Given the description of an element on the screen output the (x, y) to click on. 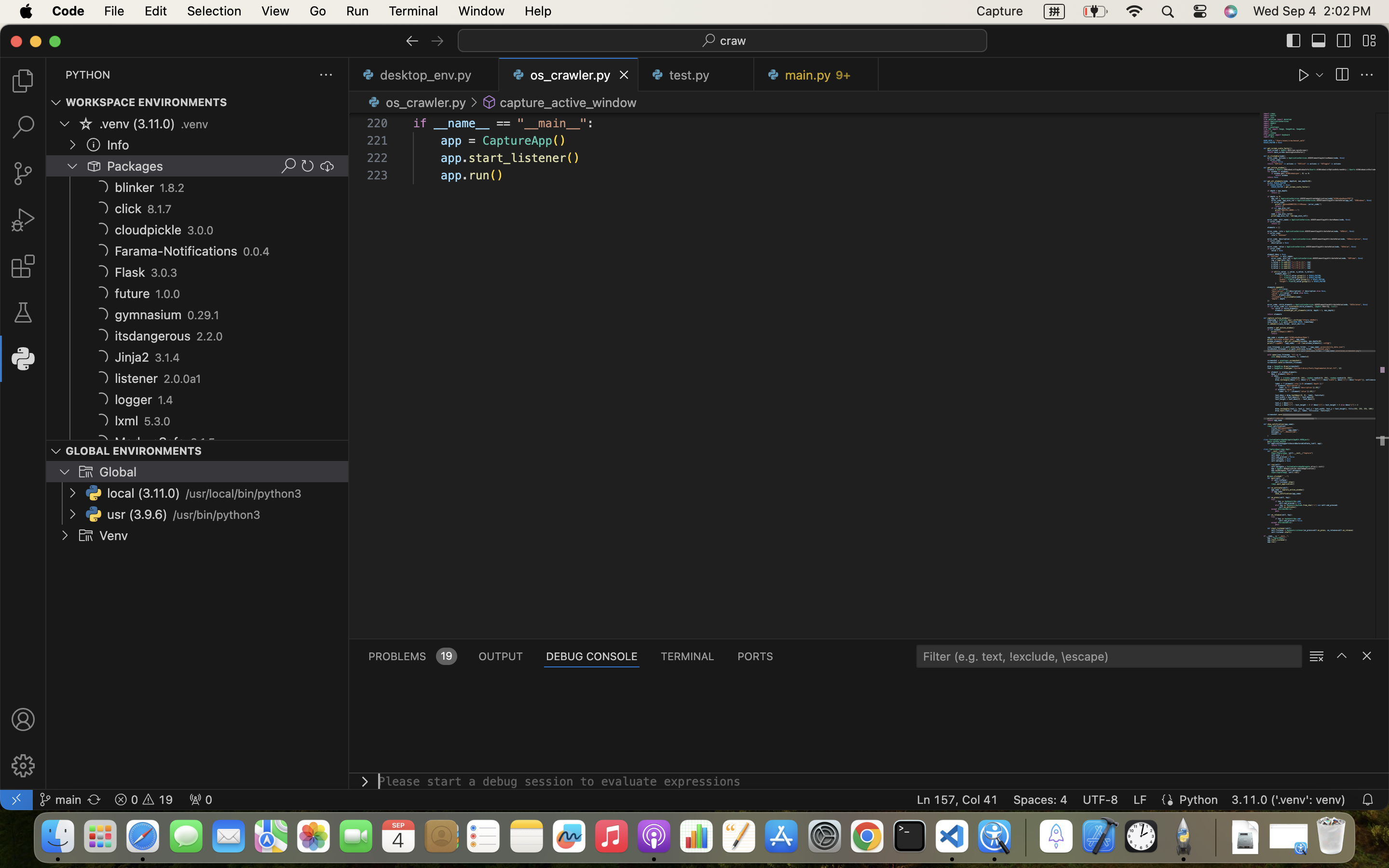
0 PORTS Element type: AXRadioButton (755, 655)
1.8.2 Element type: AXStaticText (172, 187)
 Element type: AXStaticText (473, 101)
0 desktop_env.py   Element type: AXRadioButton (424, 74)
 Element type: AXCheckBox (1341, 655)
